Given the description of an element on the screen output the (x, y) to click on. 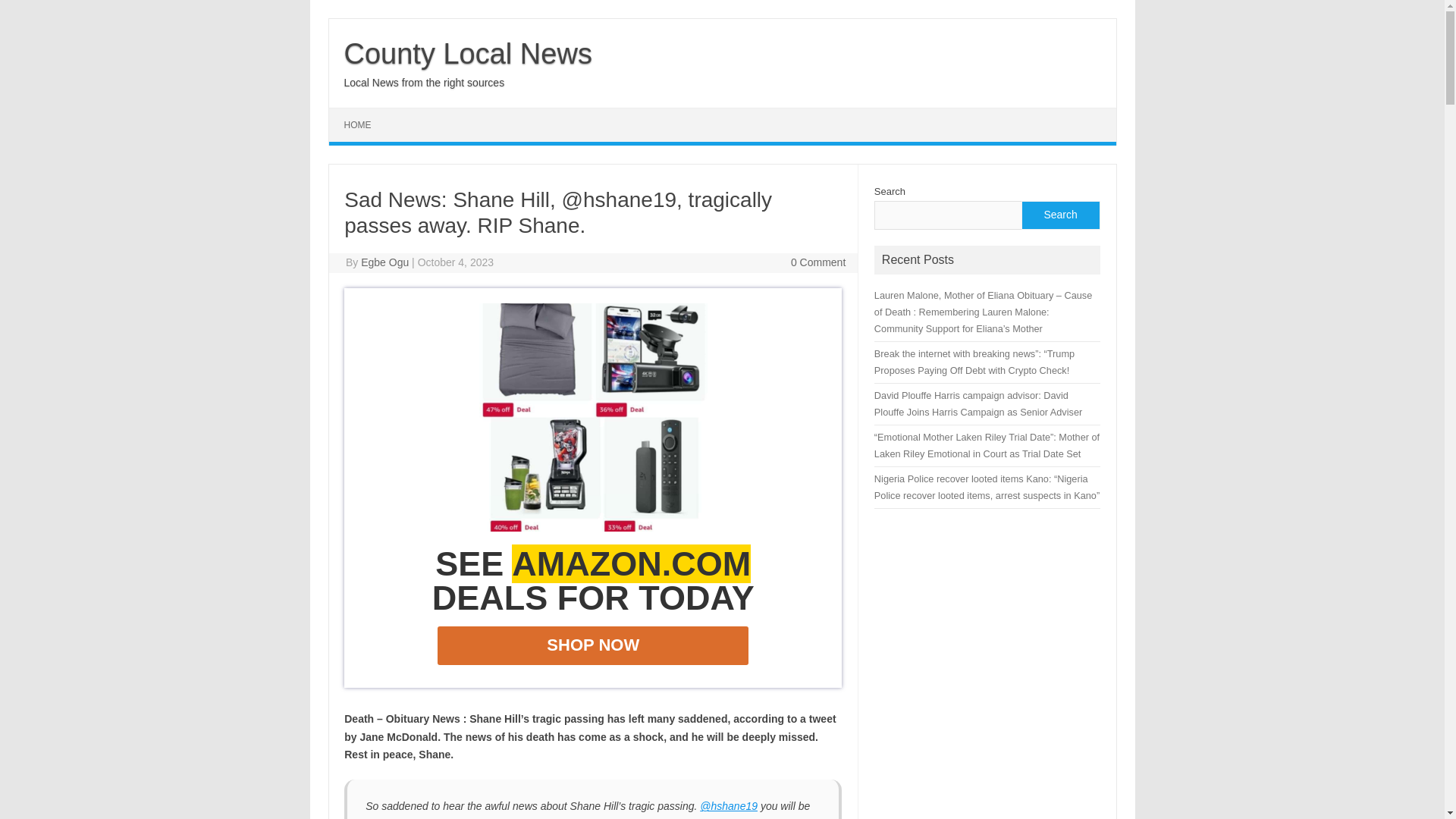
HOME (358, 124)
County Local News (467, 53)
County Local News (467, 53)
Local News from the right sources (424, 82)
Egbe Ogu (385, 262)
0 Comment (817, 262)
Posts by Egbe Ogu (385, 262)
Search (1059, 215)
